Given the description of an element on the screen output the (x, y) to click on. 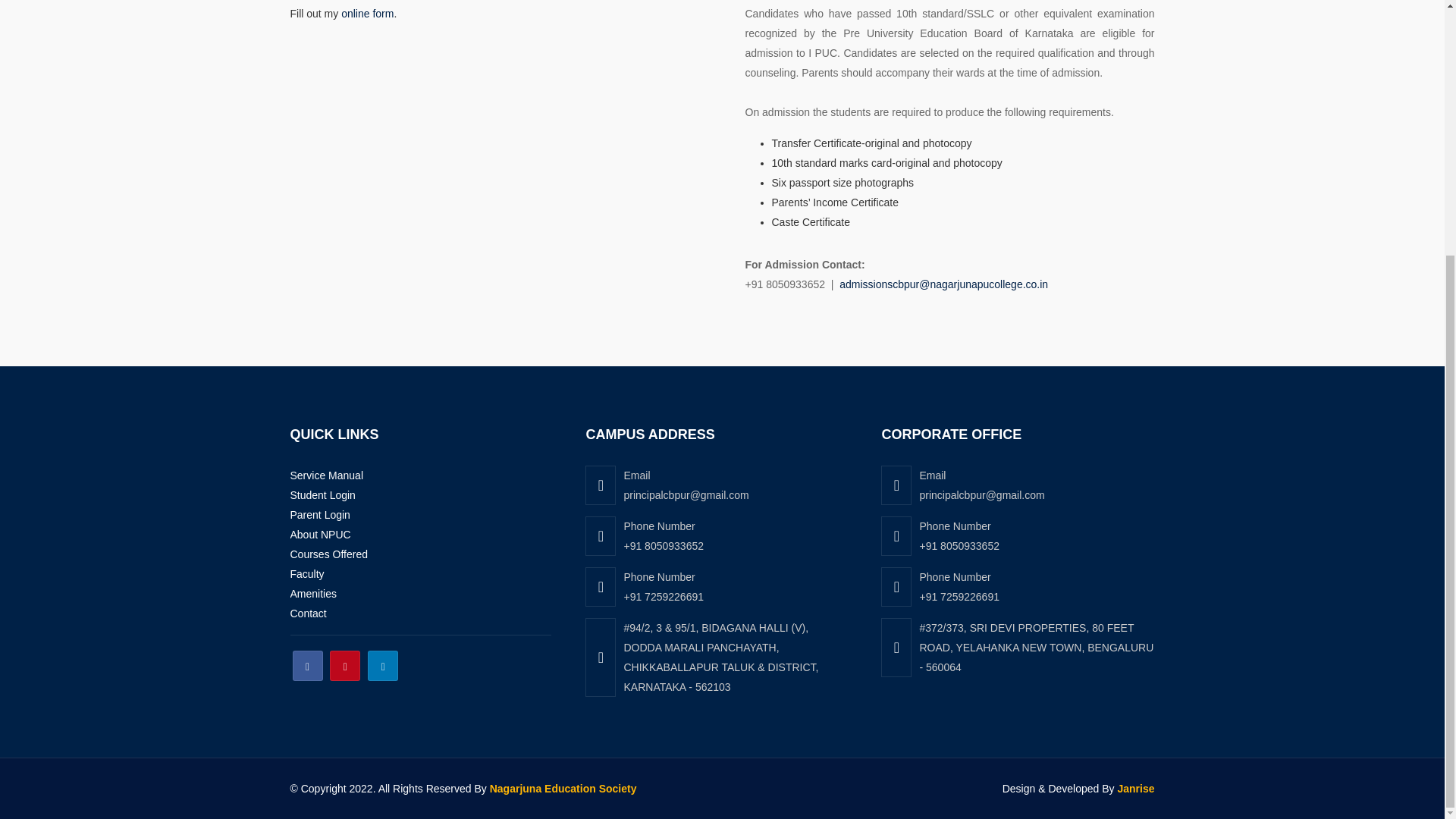
Nagarjuna Education Society (563, 788)
Courses Offered (327, 553)
Amenities (312, 593)
Contact (307, 613)
Janrise (1135, 788)
About NPUC (319, 534)
Service Manual (325, 475)
online form (366, 13)
Student Login (322, 494)
Parent Login (319, 514)
Faculty (306, 573)
